Given the description of an element on the screen output the (x, y) to click on. 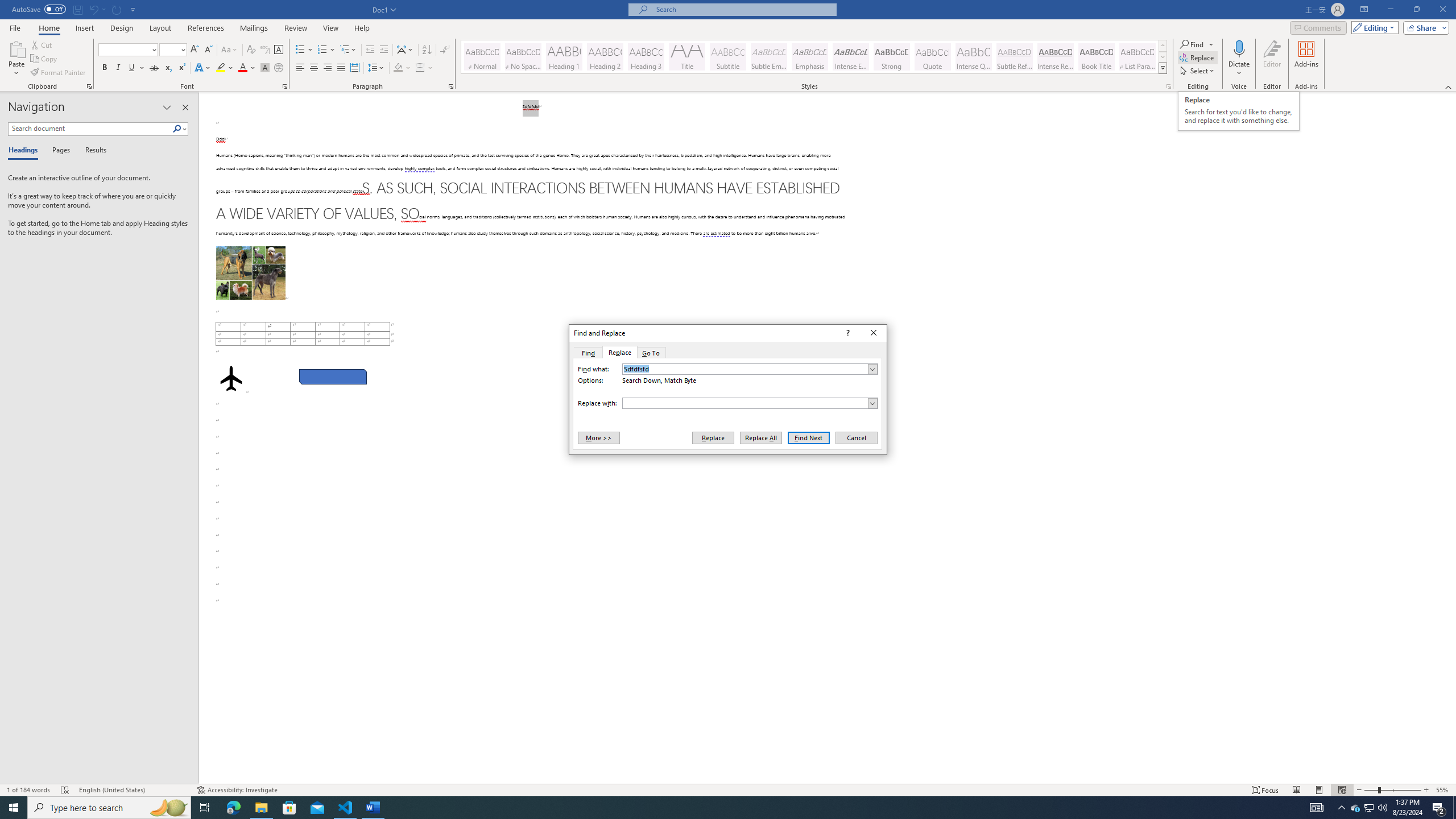
Running applications (717, 807)
Microsoft Edge (233, 807)
Strikethrough (154, 67)
Intense Reference (1055, 56)
Cut (42, 44)
Language English (United States) (132, 790)
Subtle Emphasis (768, 56)
Font Color (246, 67)
